Given the description of an element on the screen output the (x, y) to click on. 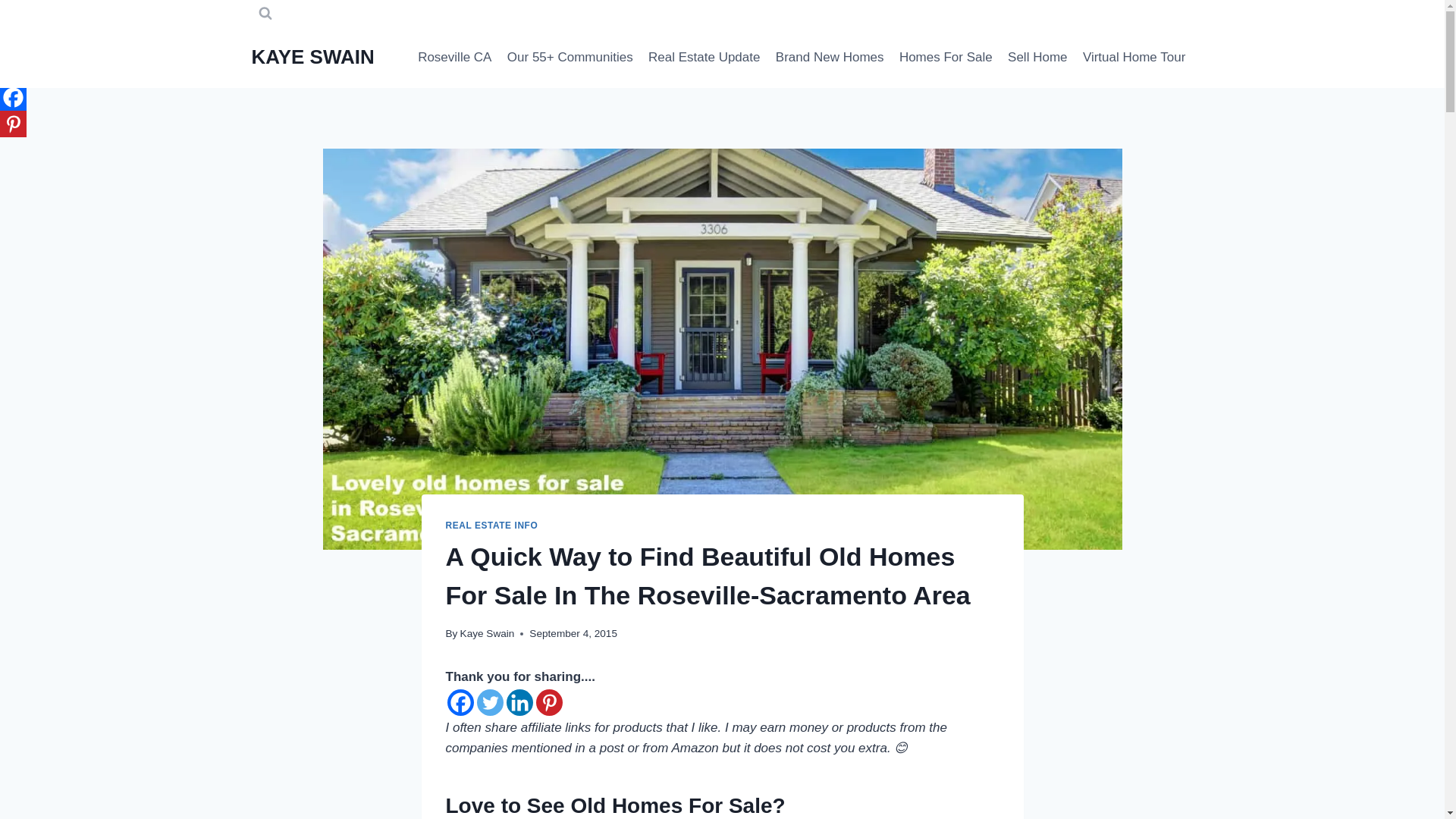
Homes For Sale (945, 57)
Real Estate Update (704, 57)
KAYE SWAIN (312, 56)
Facebook (460, 702)
Real Estate Update (704, 57)
REAL ESTATE INFO (491, 525)
Roseville CA (454, 57)
Pinterest (13, 123)
Pinterest (548, 702)
Virtual Home Tour (1134, 57)
